Given the description of an element on the screen output the (x, y) to click on. 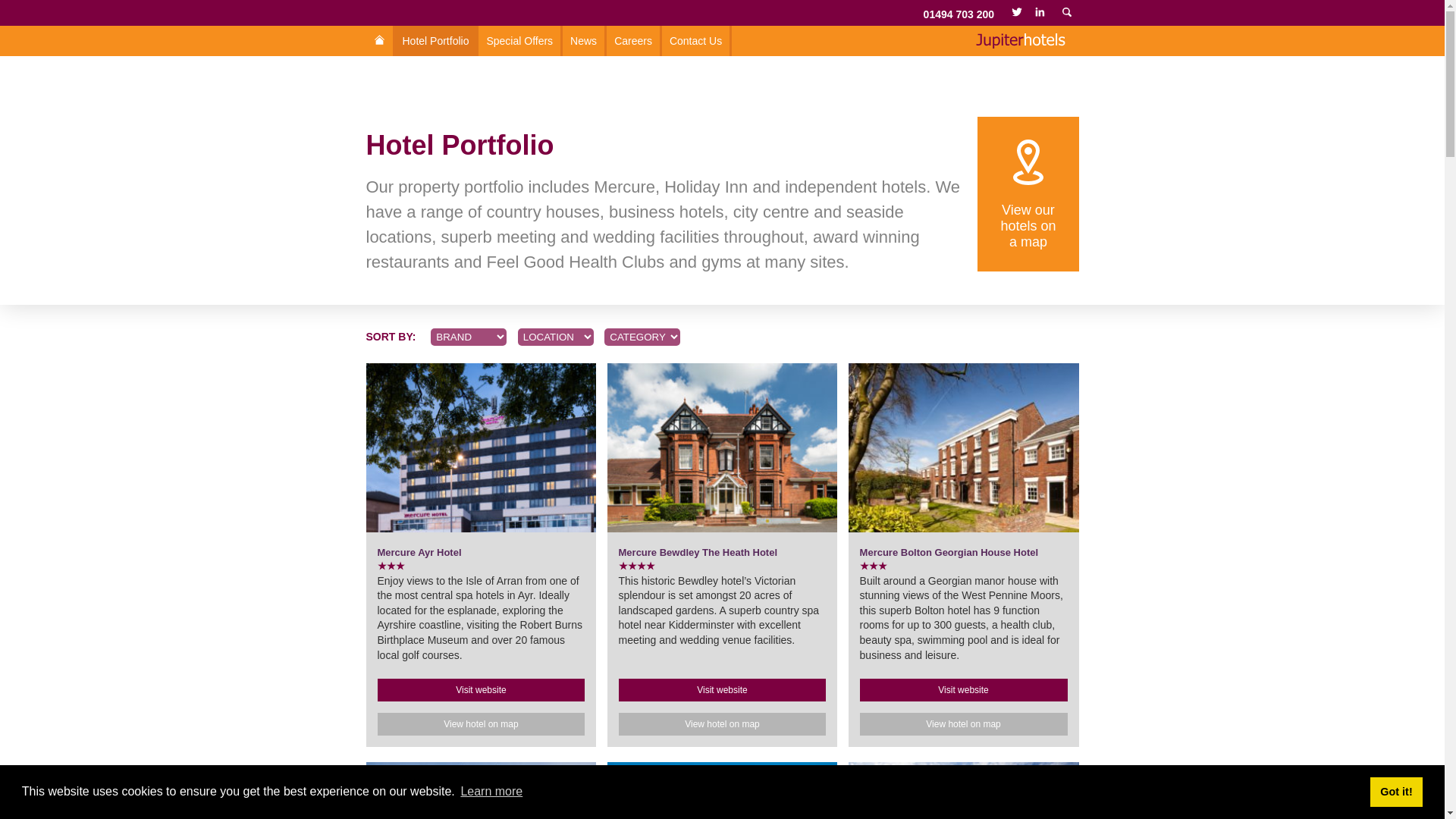
Visit website (722, 689)
View hotel on map (481, 723)
Got it! (1396, 791)
Visit website (481, 689)
Special Offers (1027, 233)
Mercure Ayr Hotel (520, 40)
Visit website (419, 552)
News (963, 689)
View hotel on map (584, 40)
Mercure Bewdley The Heath Hotel (963, 723)
Hotel Portfolio (697, 552)
Learn more (436, 40)
01494 703 200 (491, 791)
Contact Us (958, 14)
